Given the description of an element on the screen output the (x, y) to click on. 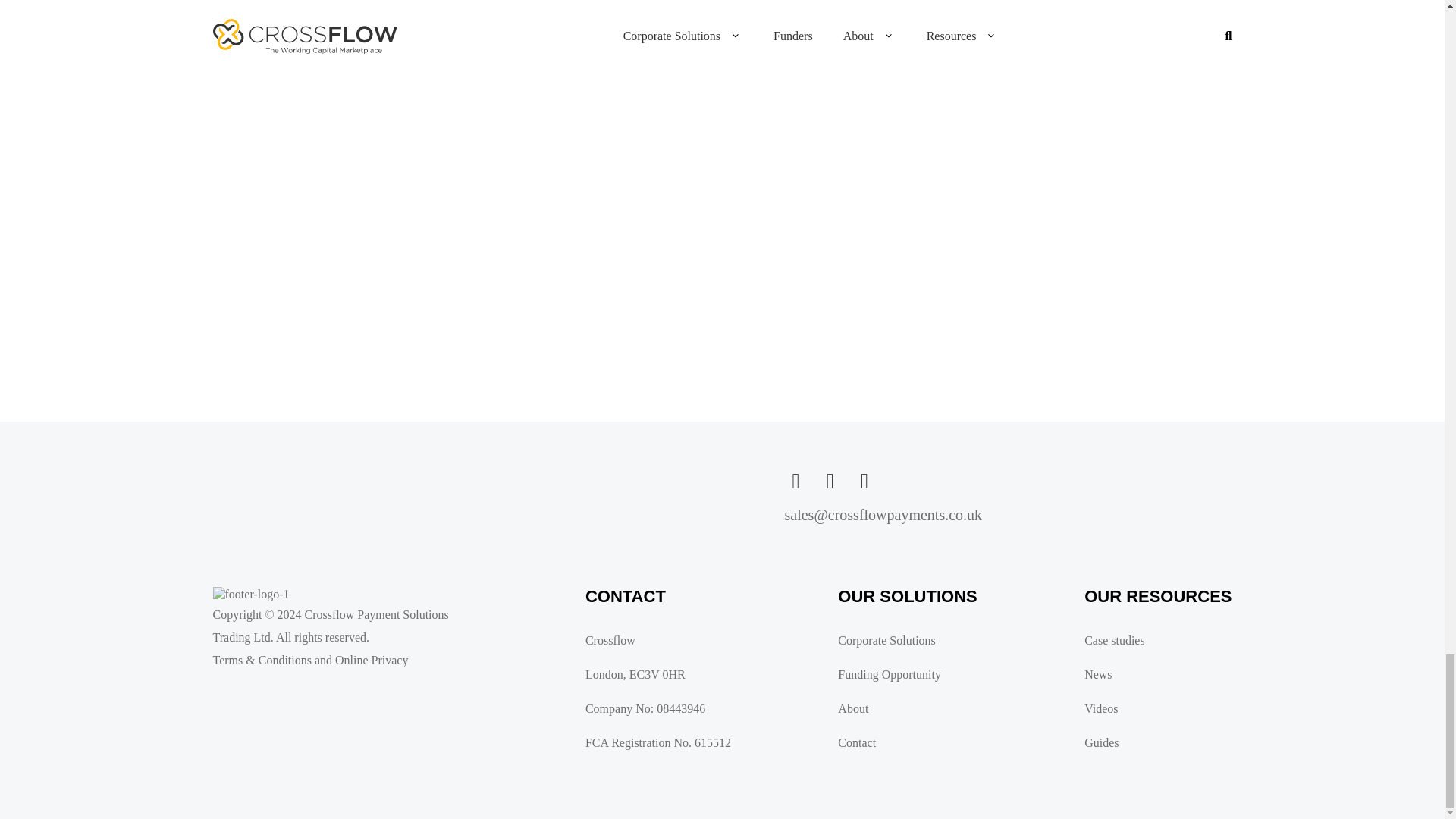
Funding Opportunity (898, 674)
Case studies (1148, 640)
Corporate Solutions (898, 640)
About (898, 708)
Contact (898, 743)
